Given the description of an element on the screen output the (x, y) to click on. 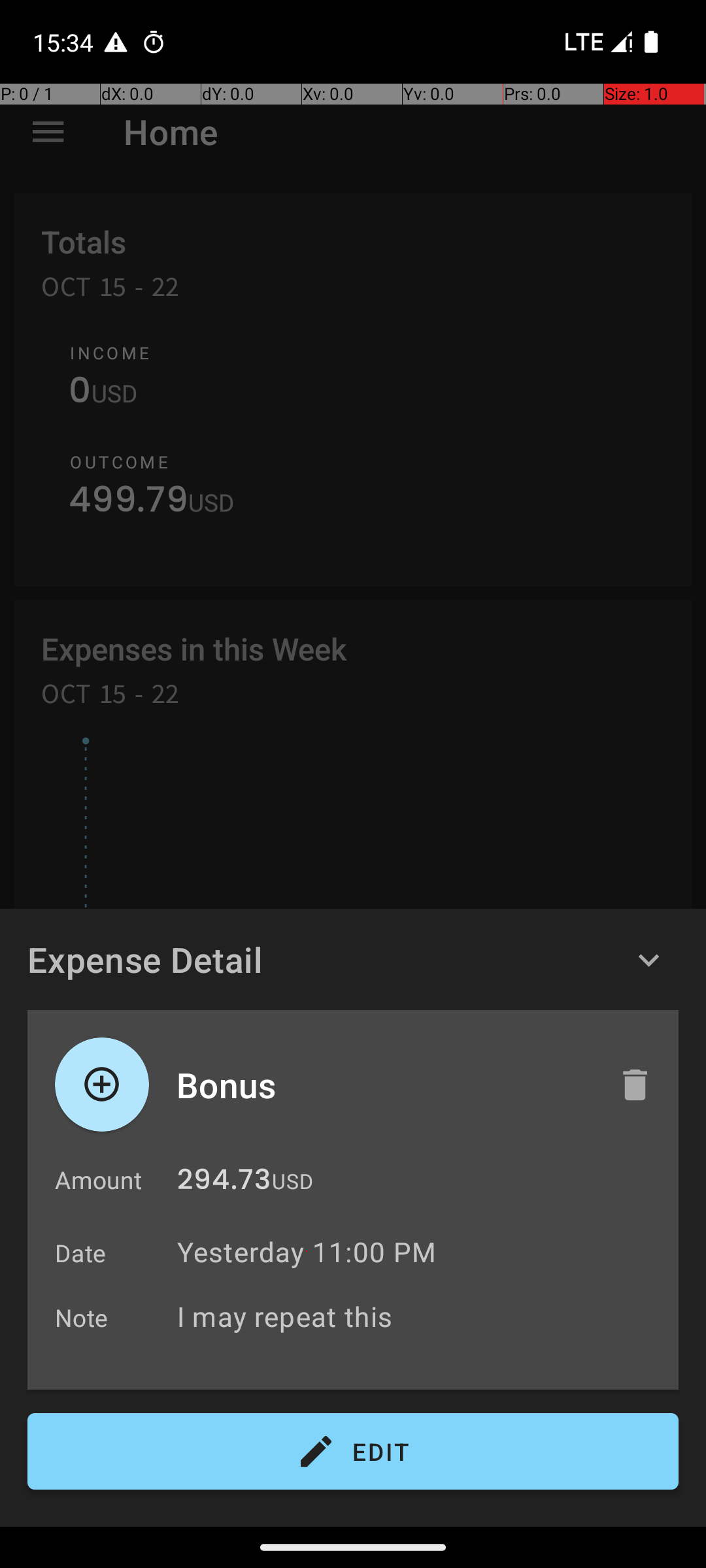
Bonus Element type: android.widget.TextView (383, 1084)
294.73 Element type: android.widget.TextView (223, 1182)
Yesterday 11:00 PM Element type: android.widget.TextView (306, 1251)
I may repeat this Element type: android.widget.TextView (420, 1315)
